Given the description of an element on the screen output the (x, y) to click on. 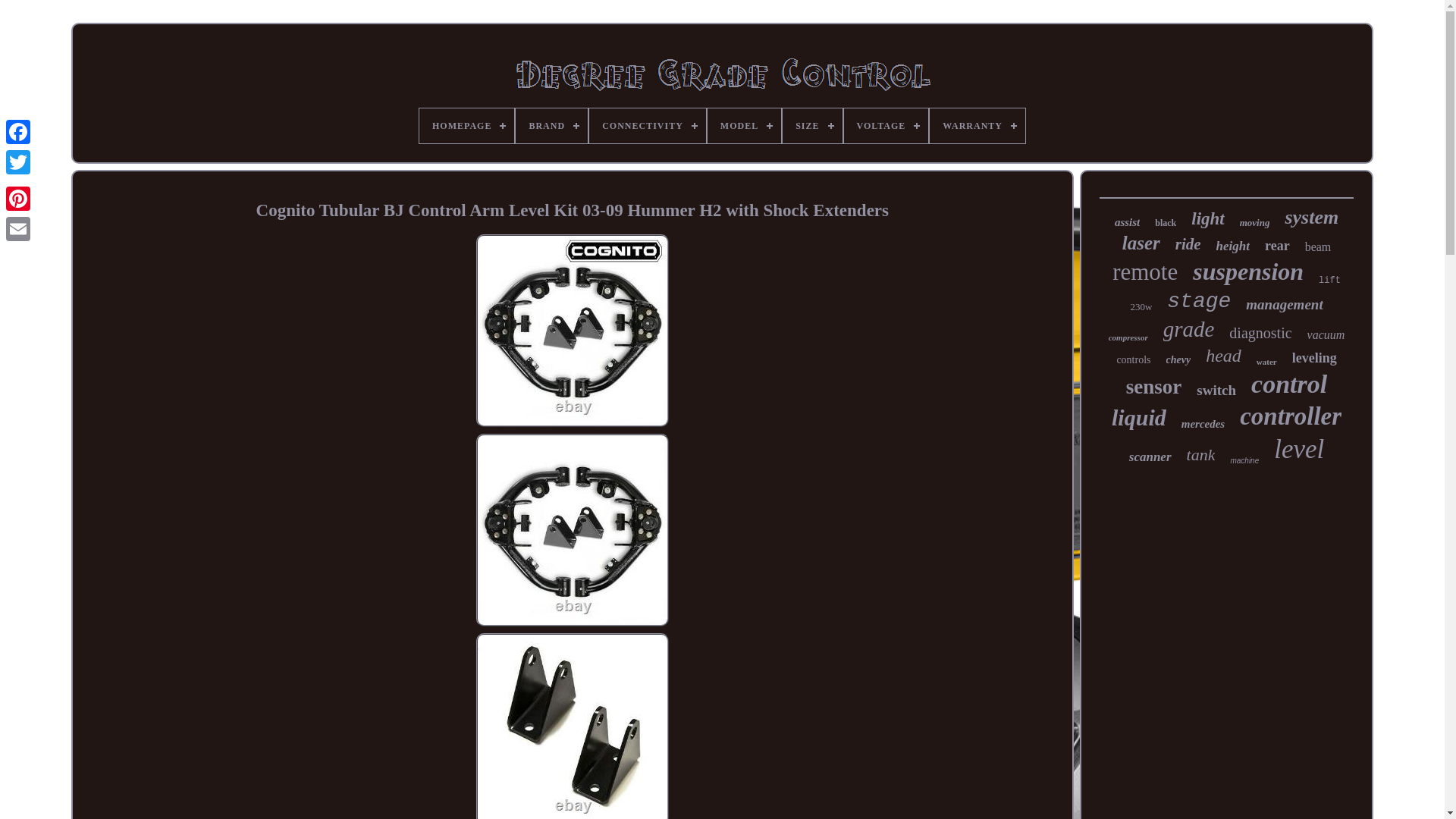
BRAND (551, 125)
HOMEPAGE (466, 125)
CONNECTIVITY (647, 125)
